Given the description of an element on the screen output the (x, y) to click on. 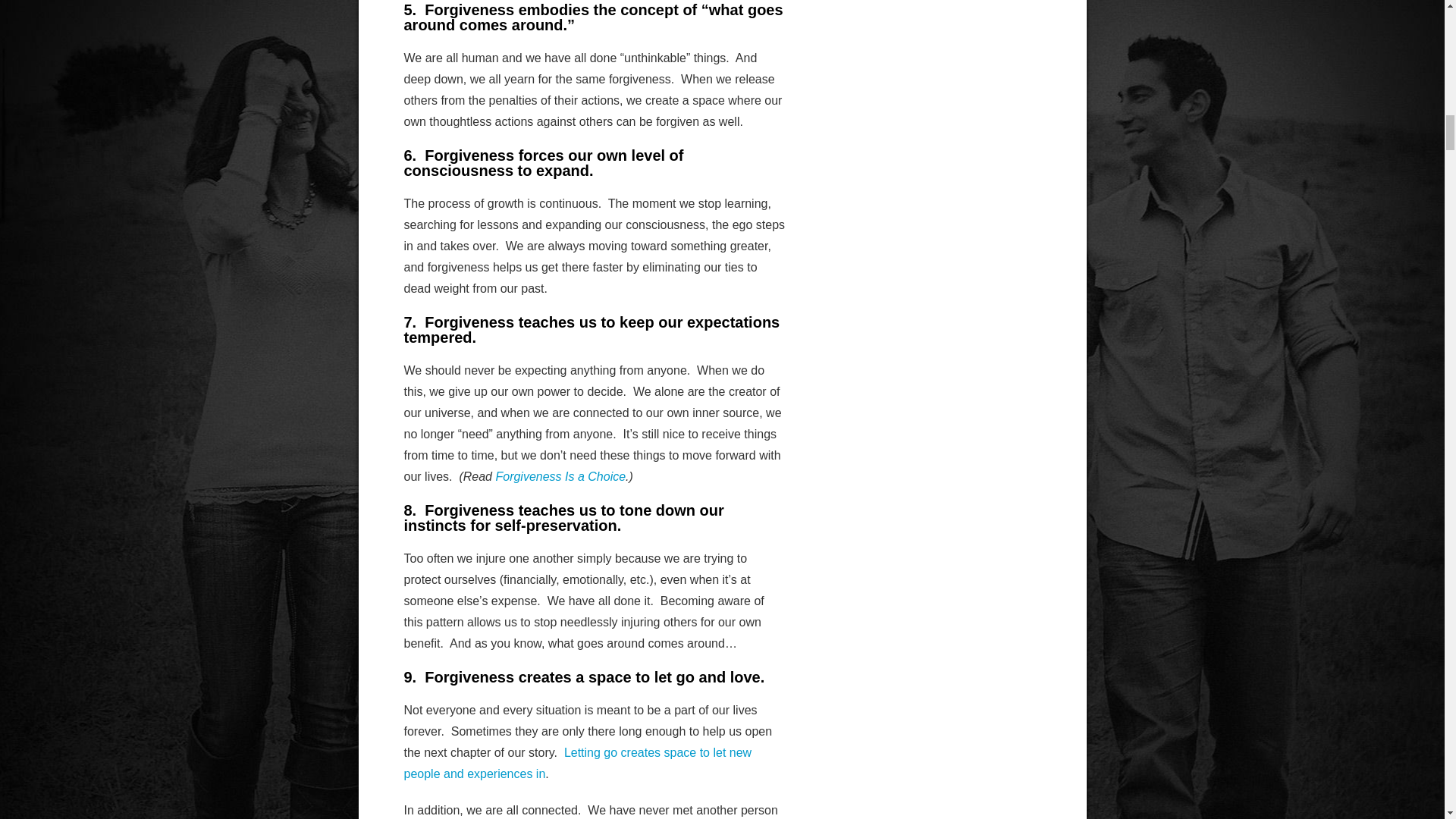
Forgiveness Is a Choice (560, 476)
5 Unique Ways to Forgive and Let Go (577, 763)
